Given the description of an element on the screen output the (x, y) to click on. 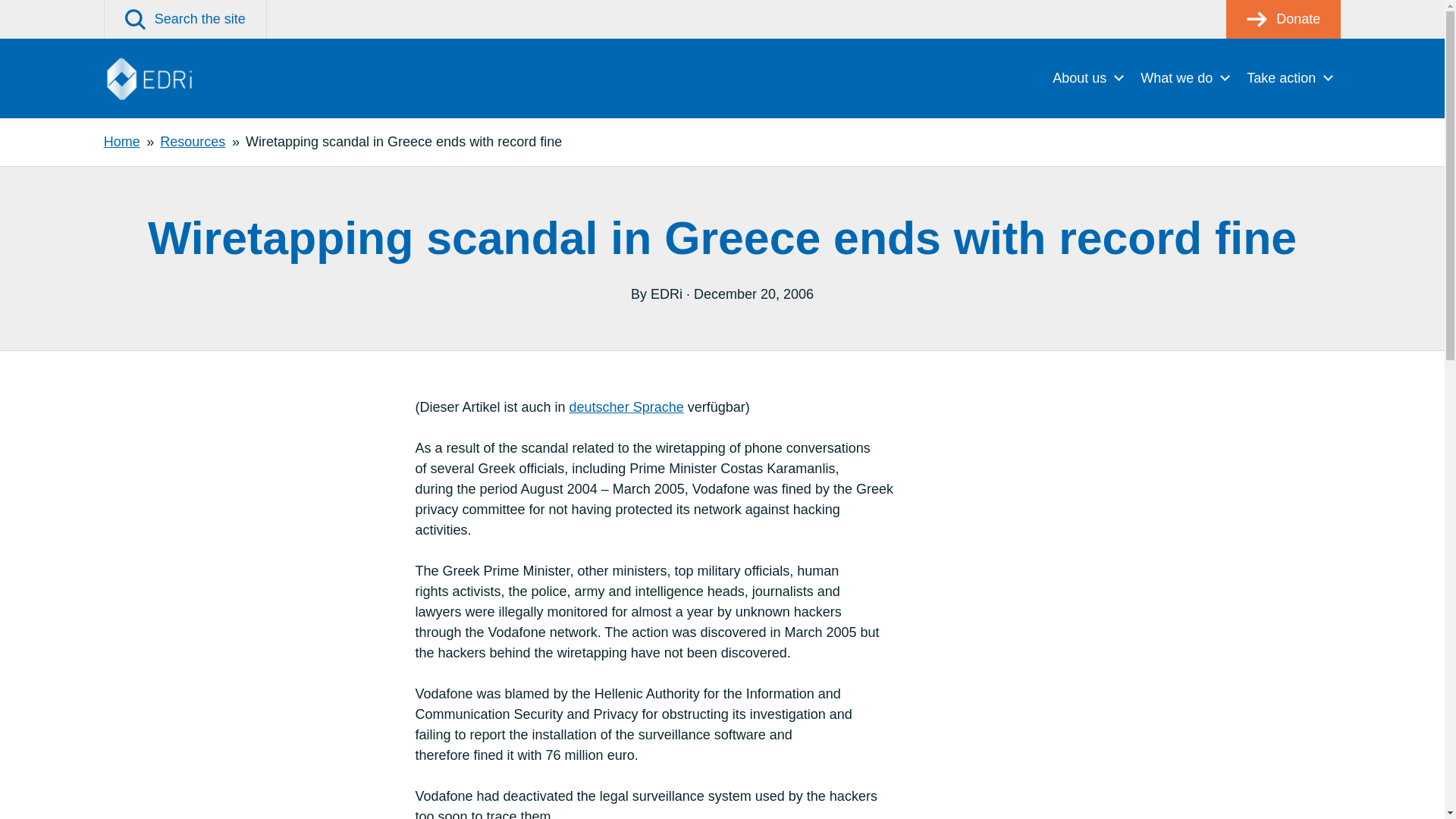
Search the site (184, 19)
What we do (1184, 77)
Take action (1288, 77)
Donate (1282, 19)
About us (1087, 77)
